Given the description of an element on the screen output the (x, y) to click on. 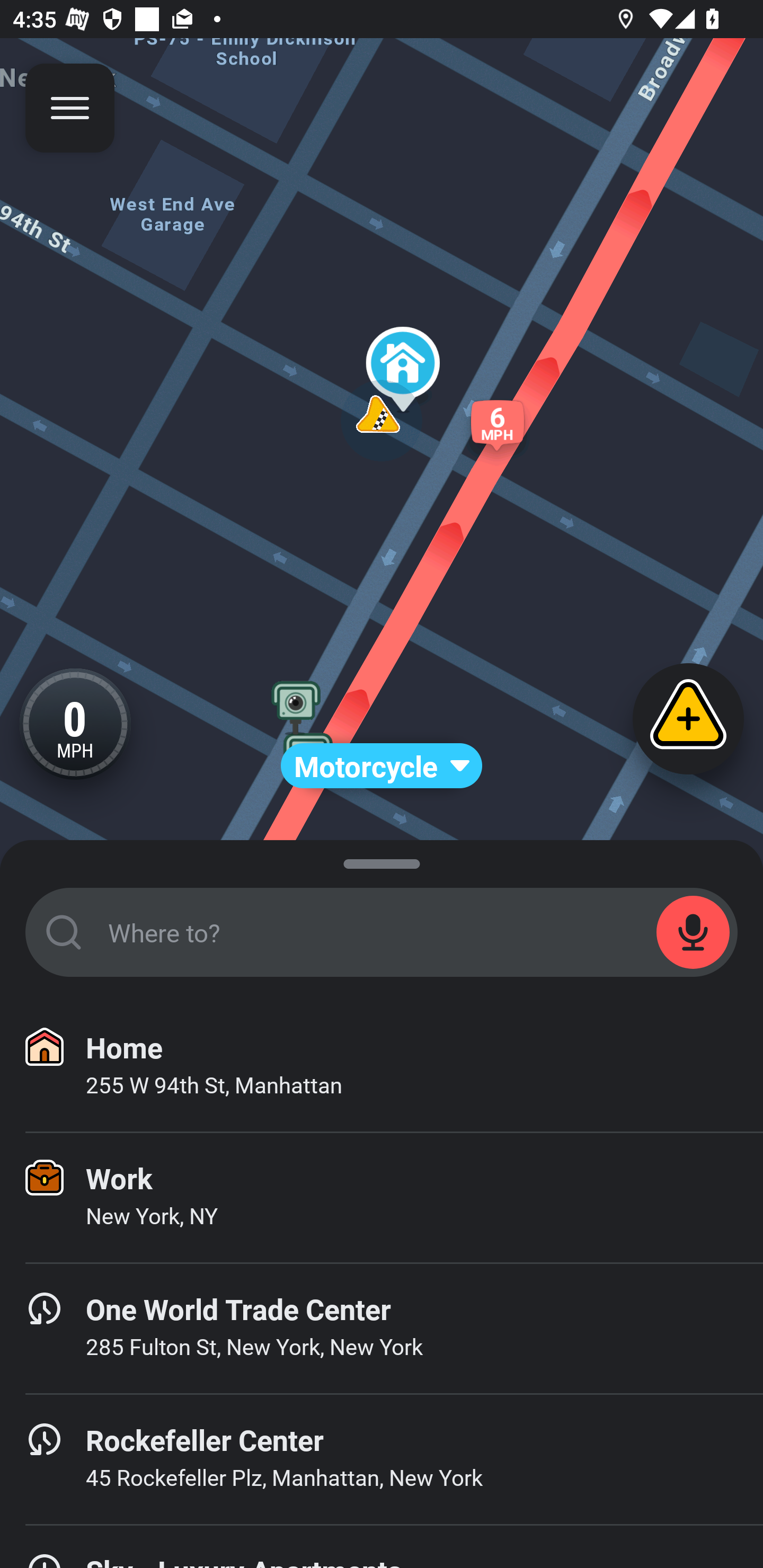
Motorcycle (381, 765)
SUGGESTIONS_SHEET_DRAG_HANDLE (381, 860)
START_STATE_SEARCH_FIELD Where to? (381, 931)
Home 255 W 94th St, Manhattan (381, 1066)
Work New York, NY (381, 1197)
